Given the description of an element on the screen output the (x, y) to click on. 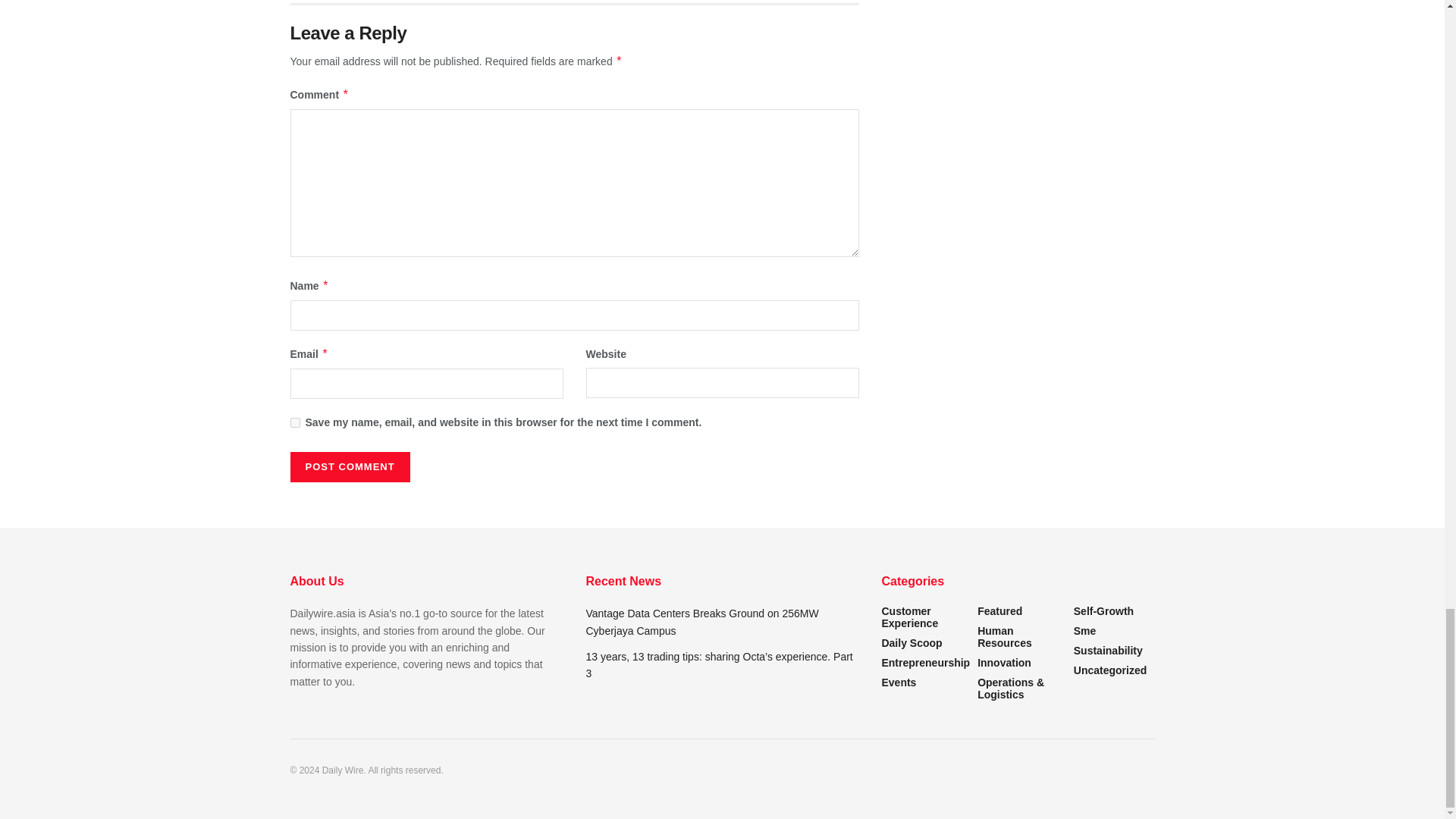
Post Comment (349, 467)
yes (294, 422)
